Given the description of an element on the screen output the (x, y) to click on. 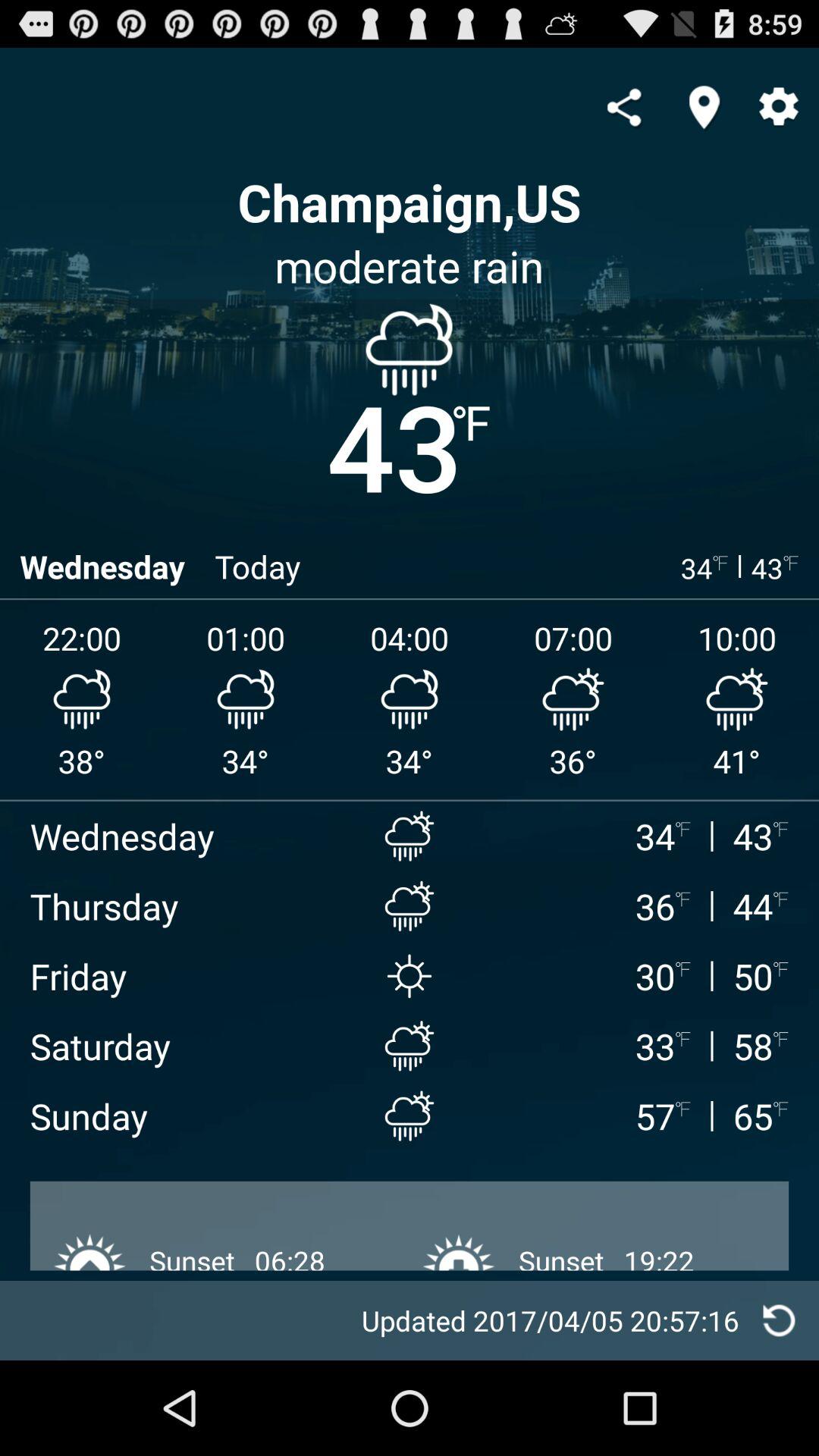
refresh weather information (779, 1320)
